Given the description of an element on the screen output the (x, y) to click on. 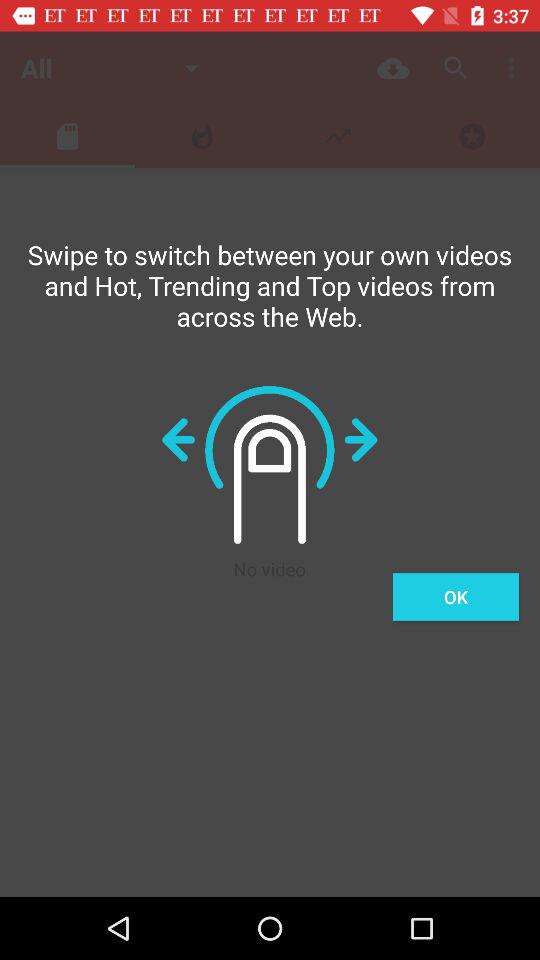
click the icon below the swipe to switch icon (456, 596)
